Given the description of an element on the screen output the (x, y) to click on. 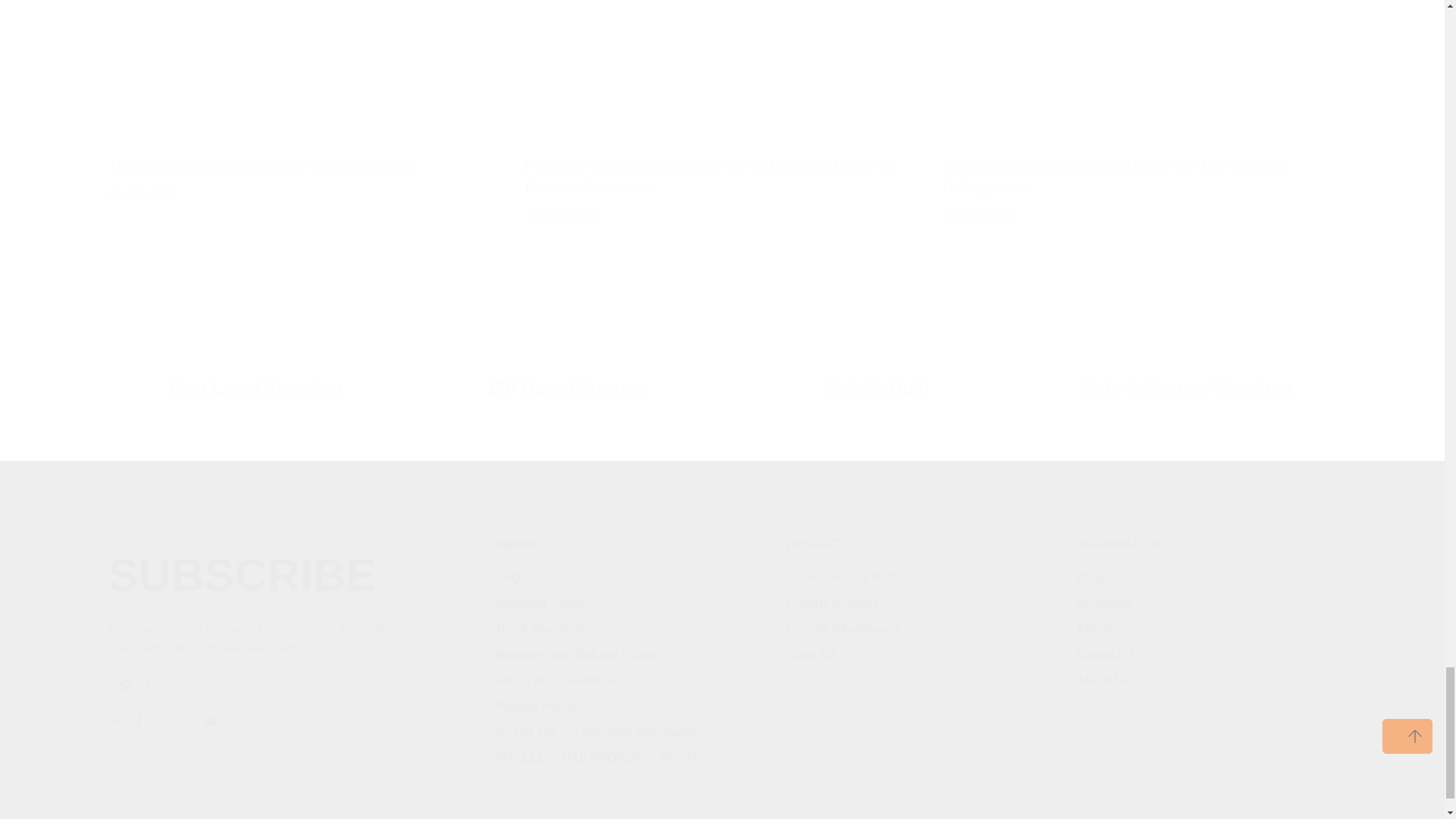
180 Days Warranty (304, 103)
Fast Local Shipping (566, 351)
Solidly Built (1206, 614)
